Given the description of an element on the screen output the (x, y) to click on. 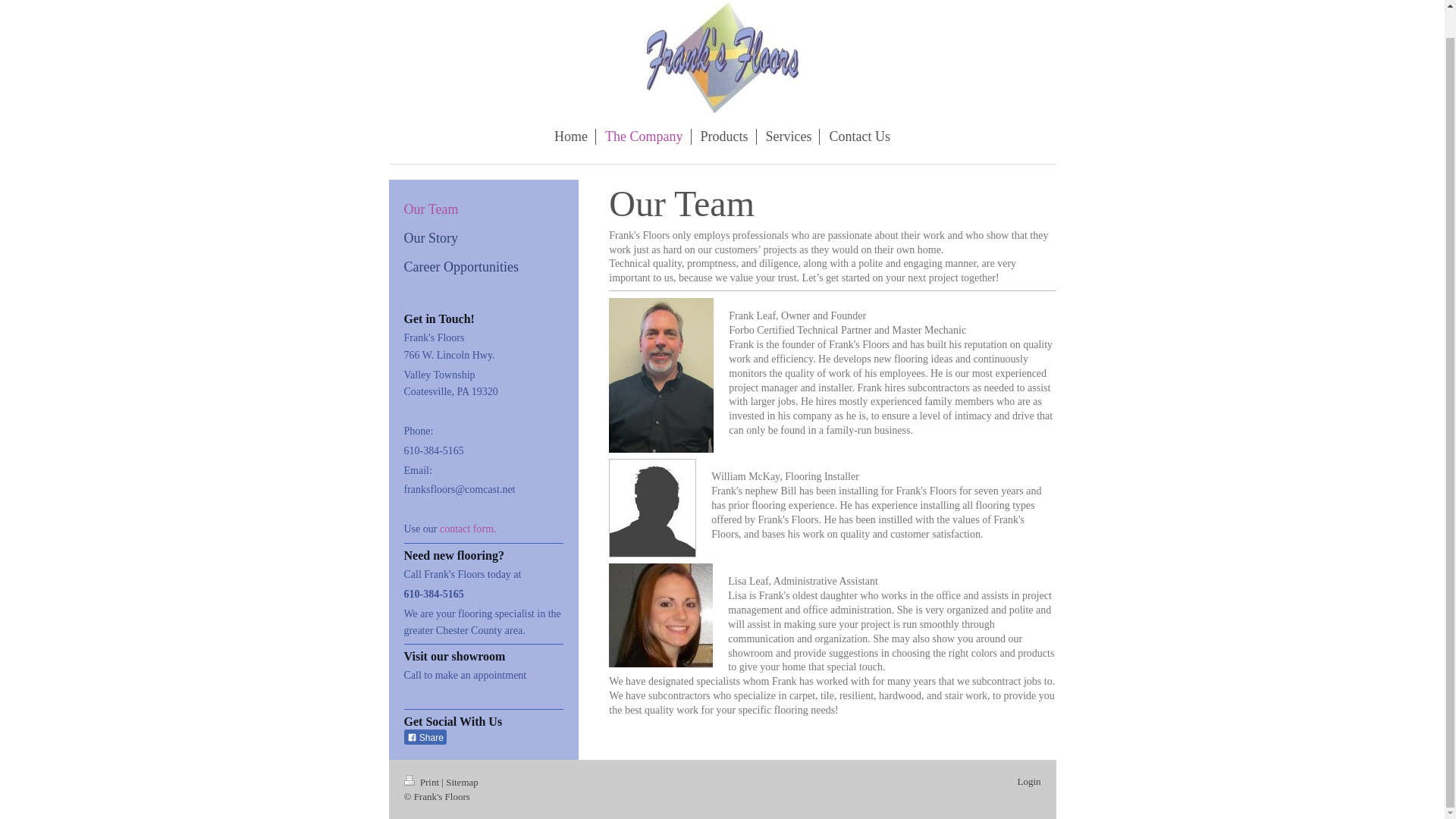
Our Team (483, 208)
Home (571, 136)
Print (422, 781)
Login (1028, 781)
Our Story (483, 237)
Services (789, 136)
Contact Us (859, 136)
contact form. (467, 528)
Career Opportunities (483, 265)
Share (424, 736)
The Company (643, 136)
Products (725, 136)
Sitemap (462, 781)
